Given the description of an element on the screen output the (x, y) to click on. 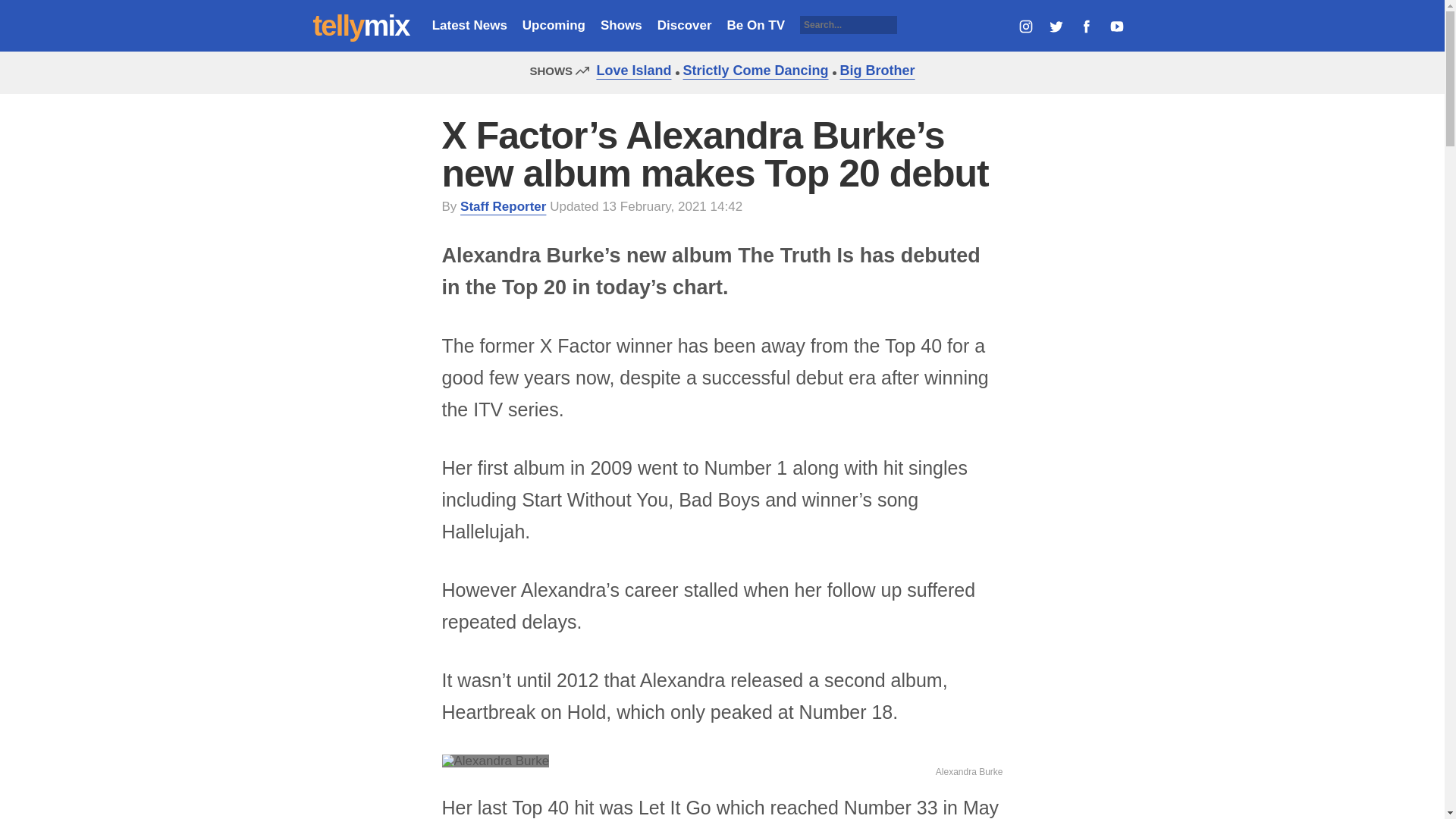
Big Brother (873, 70)
Discover (684, 25)
tellymix (361, 25)
Shows (620, 25)
Be On TV (756, 25)
Staff Reporter (503, 206)
Strictly Come Dancing (751, 70)
Love Island (629, 70)
Upcoming (553, 25)
Latest News (469, 25)
